Given the description of an element on the screen output the (x, y) to click on. 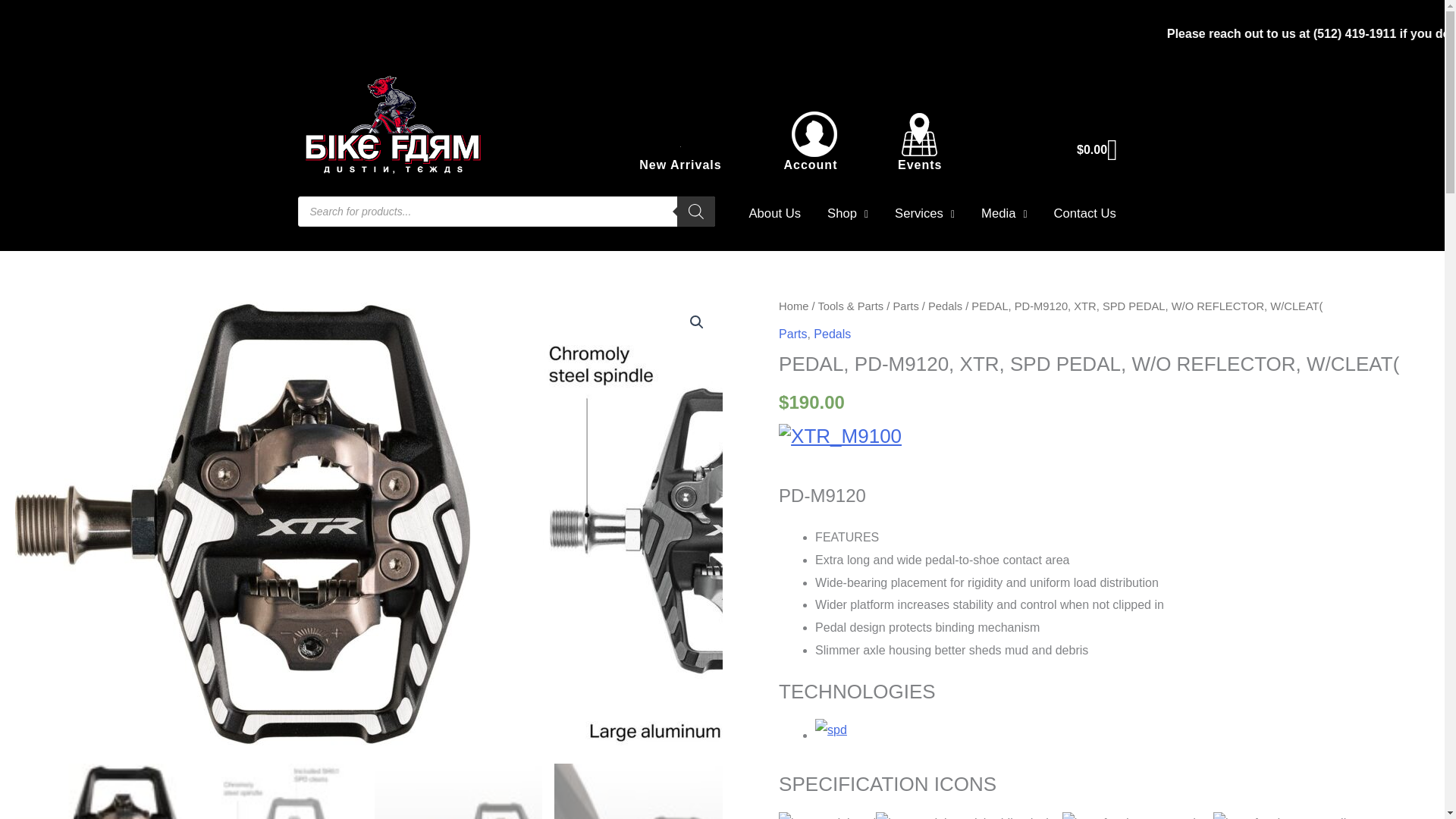
New Arrivals (679, 164)
Account (810, 164)
Shop (847, 213)
About Us (774, 213)
Services (924, 213)
Events (920, 164)
